Given the description of an element on the screen output the (x, y) to click on. 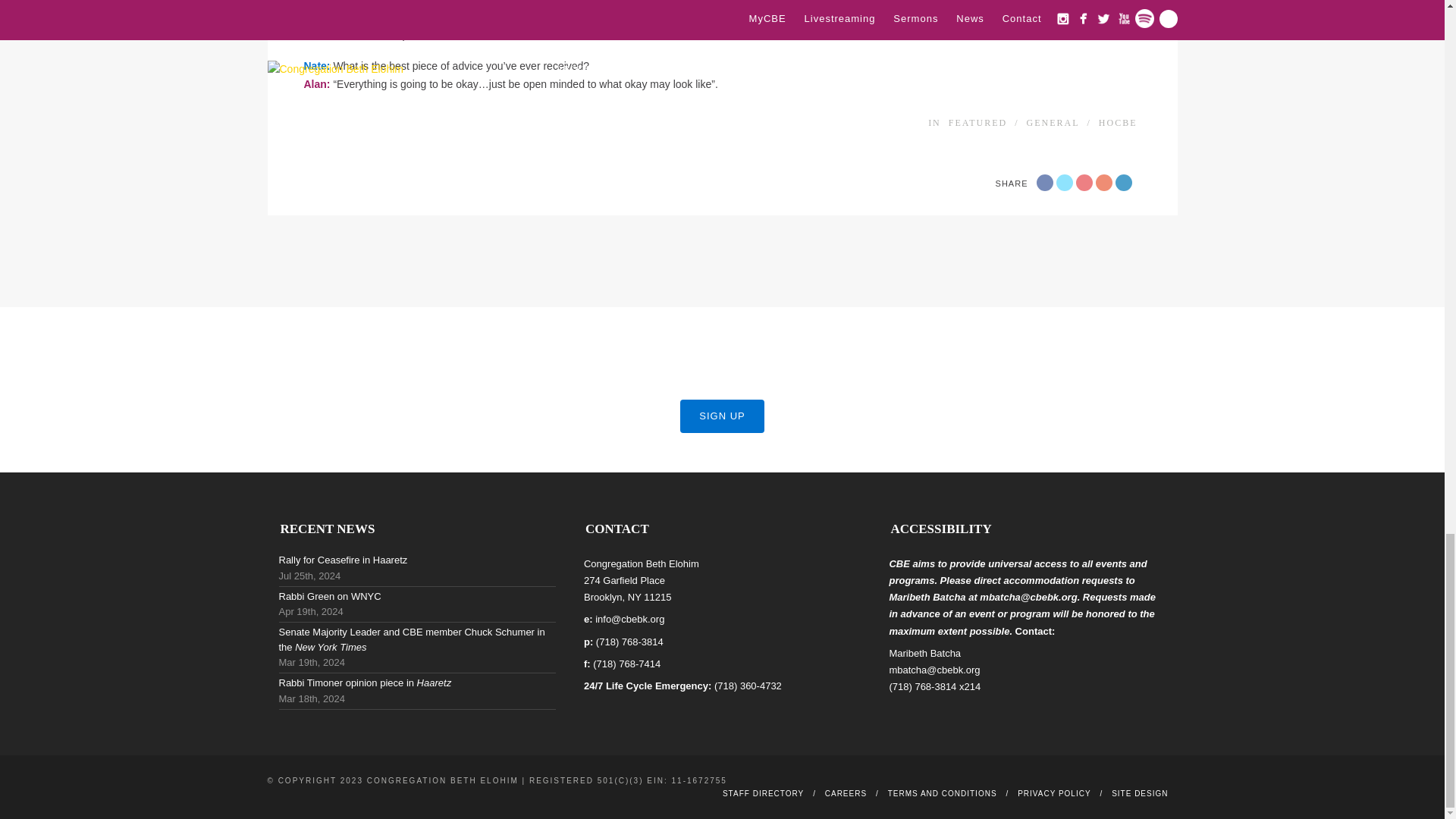
Pinterest (1103, 182)
Facebook (1043, 182)
LinkedIn (1123, 182)
Twitter (1063, 182)
